Given the description of an element on the screen output the (x, y) to click on. 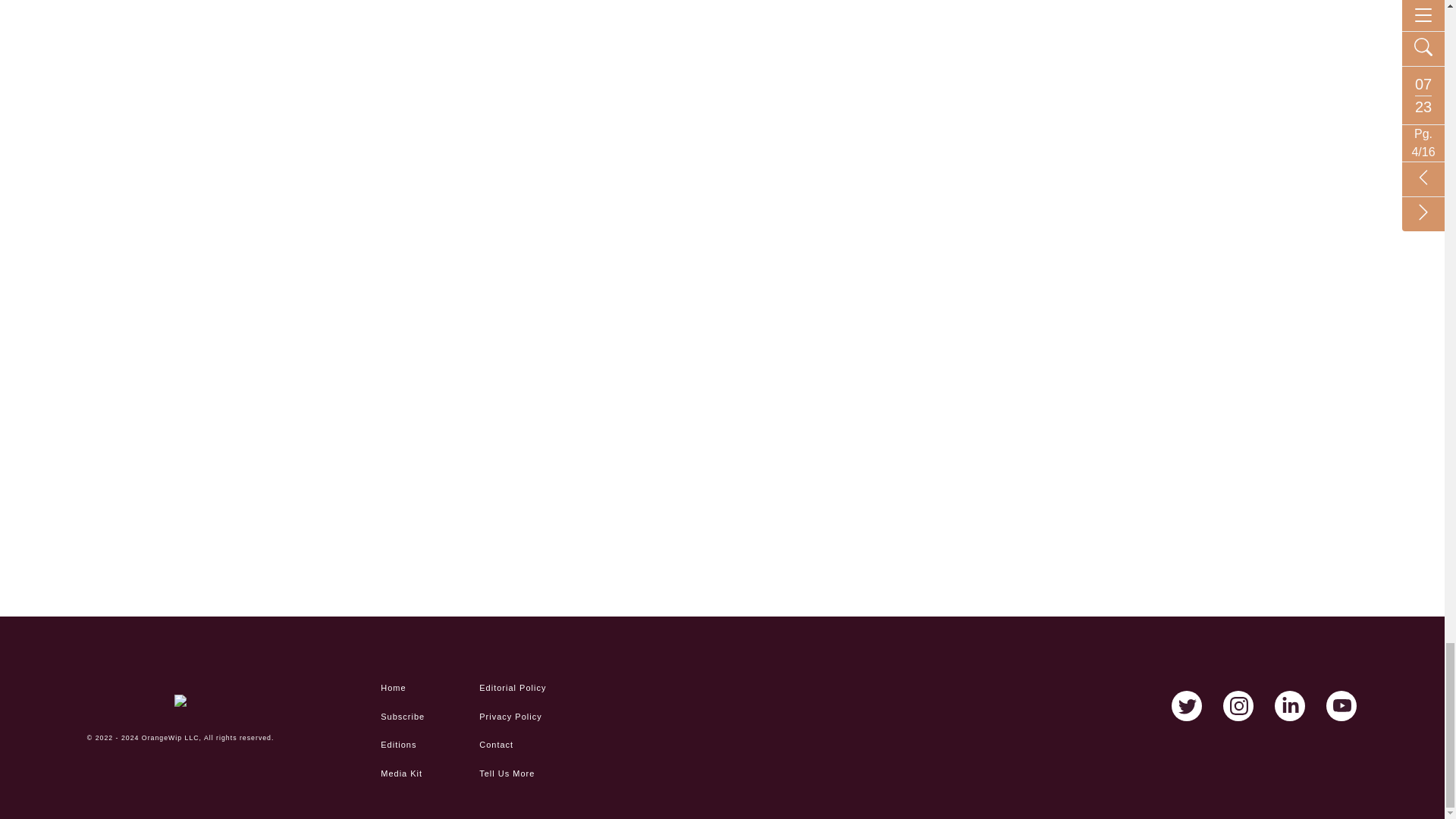
Editorial Policy (526, 688)
Privacy Policy (526, 716)
Home (428, 688)
Editions (428, 744)
Subscribe (428, 716)
Media Kit (428, 773)
Contact (526, 744)
